Given the description of an element on the screen output the (x, y) to click on. 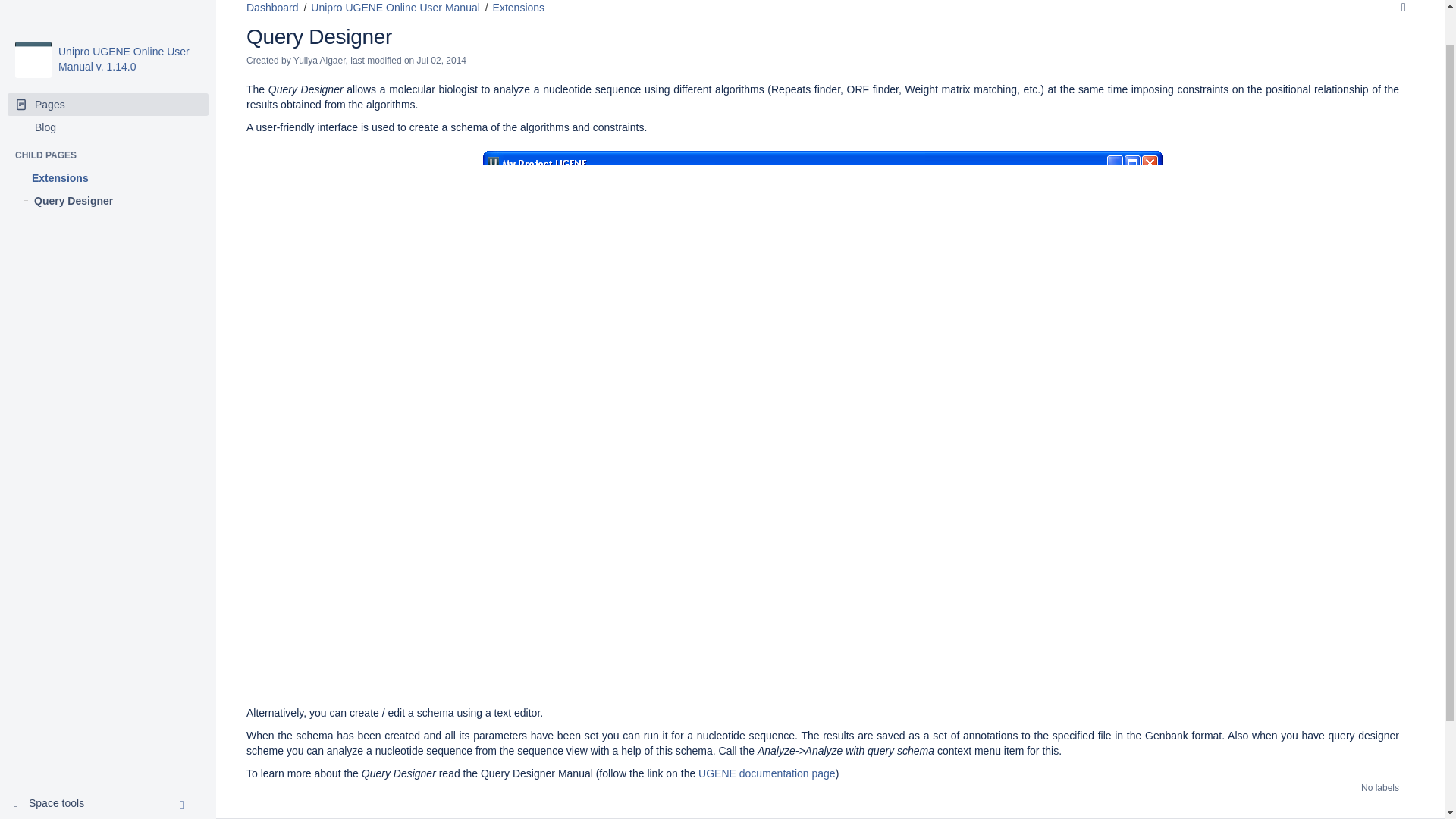
Unipro UGENE Online User Manual v. 1.14.0 (123, 17)
Extensions (107, 137)
Blog (107, 86)
Extensions (107, 137)
Dashboard (272, 7)
Unipro UGENE Online User Manual v. 1.14.0 (123, 17)
ConfigureSpace tools (54, 762)
Pages (107, 63)
Unipro UGENE Online User Manual v. 1.14.0 (32, 18)
